Given the description of an element on the screen output the (x, y) to click on. 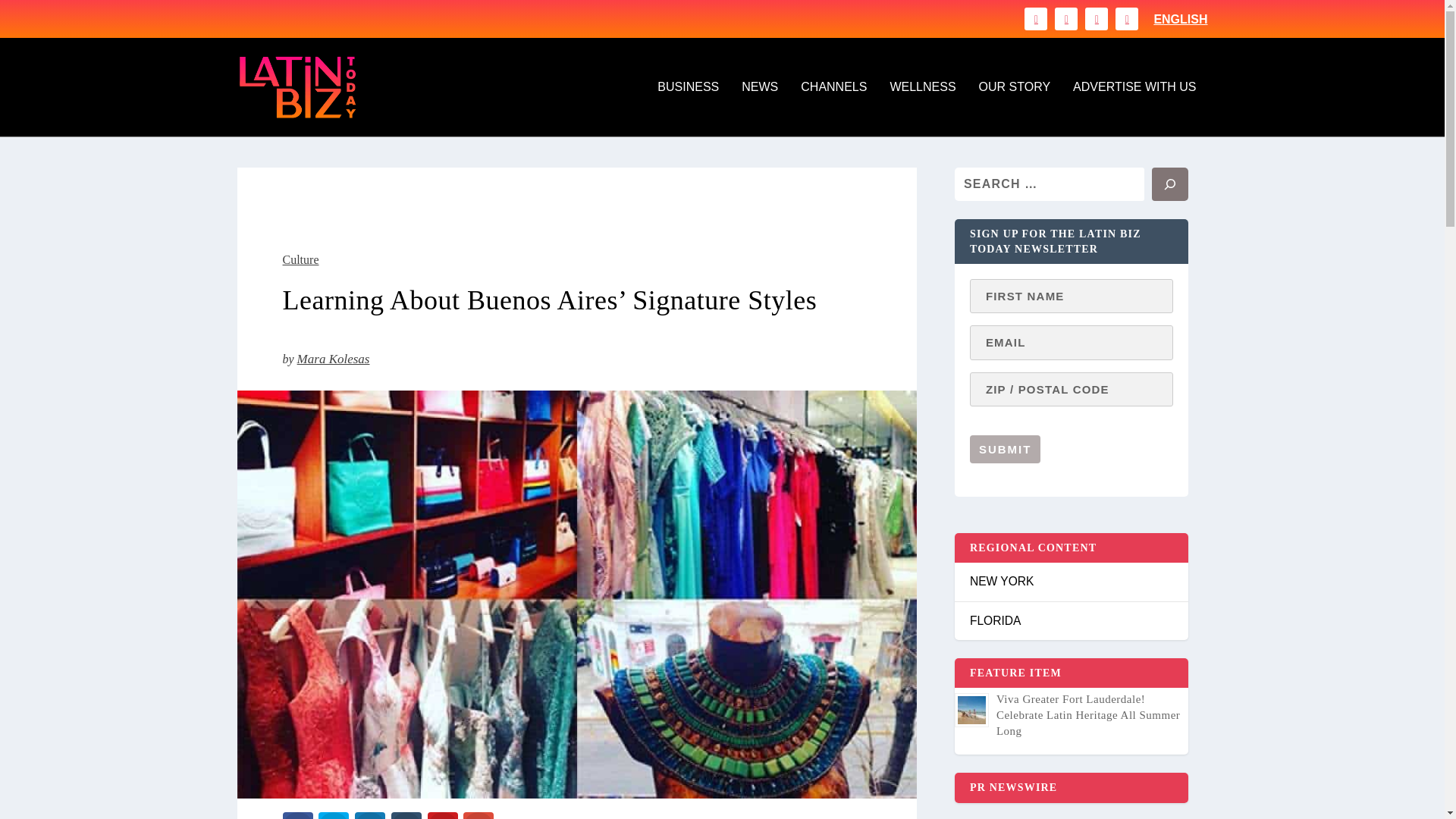
Submit (1005, 448)
English (1180, 19)
